Given the description of an element on the screen output the (x, y) to click on. 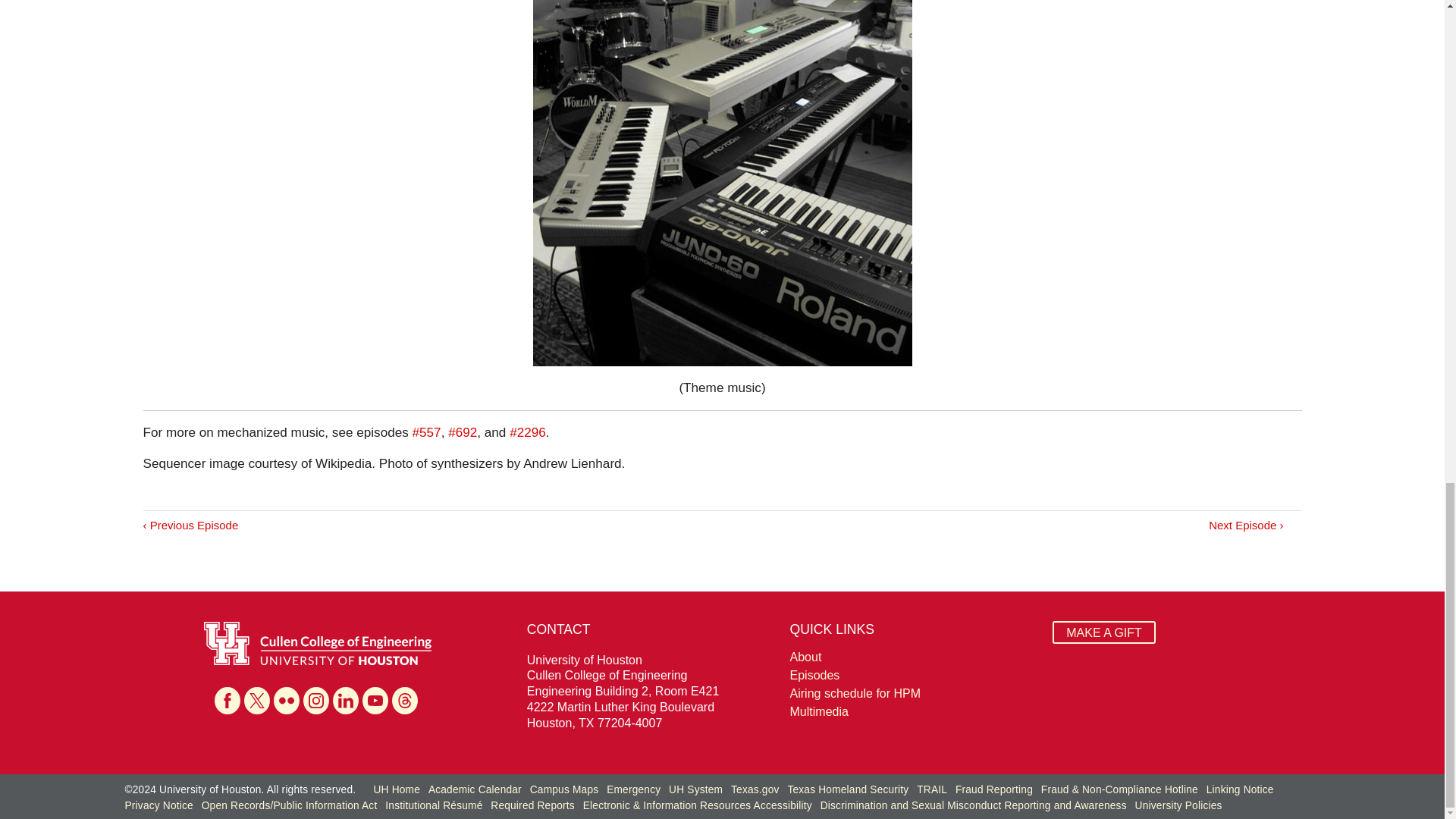
About (913, 657)
Airing schedule for HPM (913, 693)
Academic Calendar (474, 789)
Multimedia (913, 711)
Campus Maps (563, 789)
UH Home (396, 789)
Episodes (913, 675)
